Given the description of an element on the screen output the (x, y) to click on. 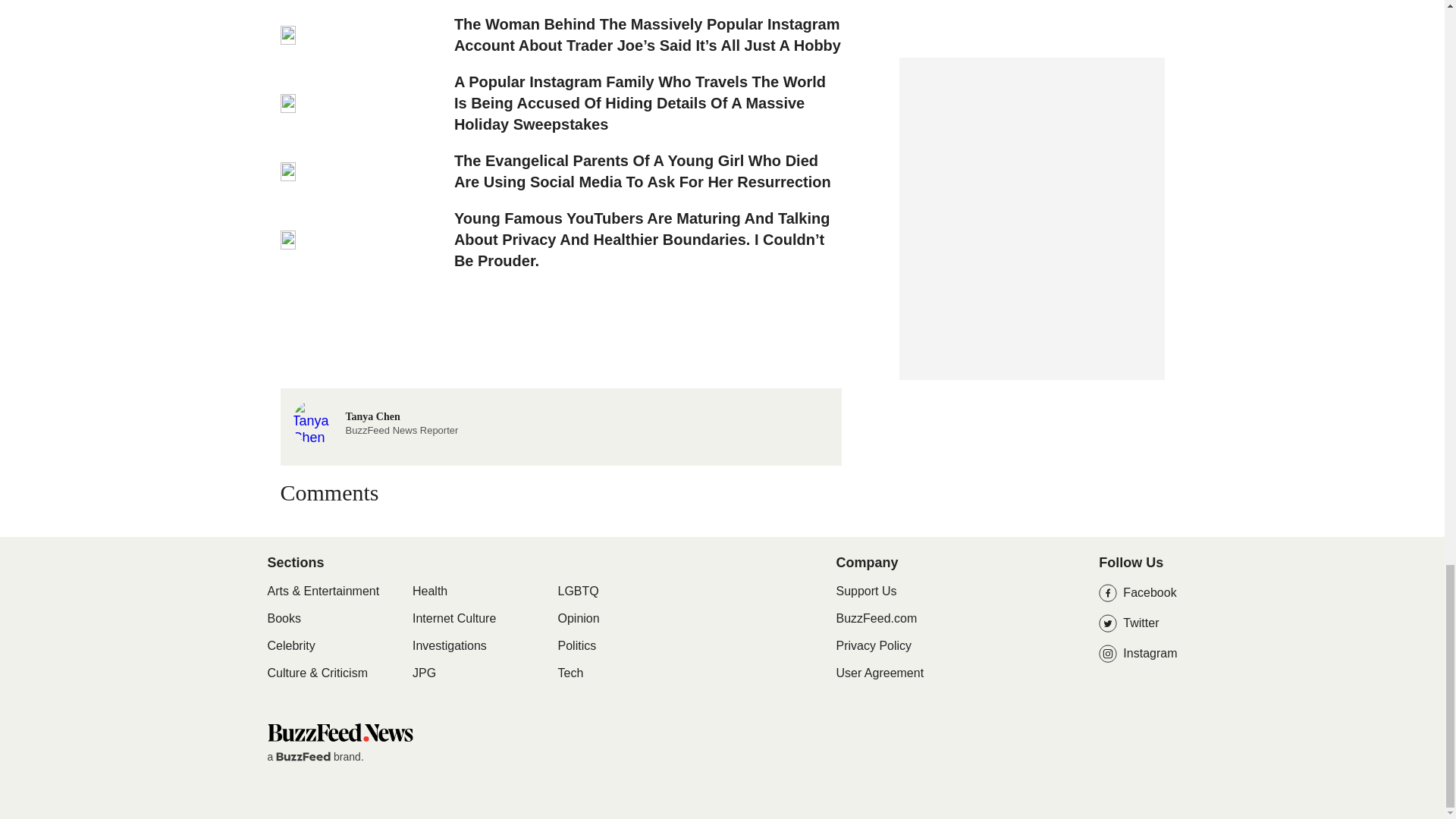
Investigations (449, 645)
BuzzFeed (375, 420)
BuzzFeed News Home (303, 756)
Celebrity (339, 732)
Health (290, 645)
JPG (429, 590)
Books (423, 672)
